Given the description of an element on the screen output the (x, y) to click on. 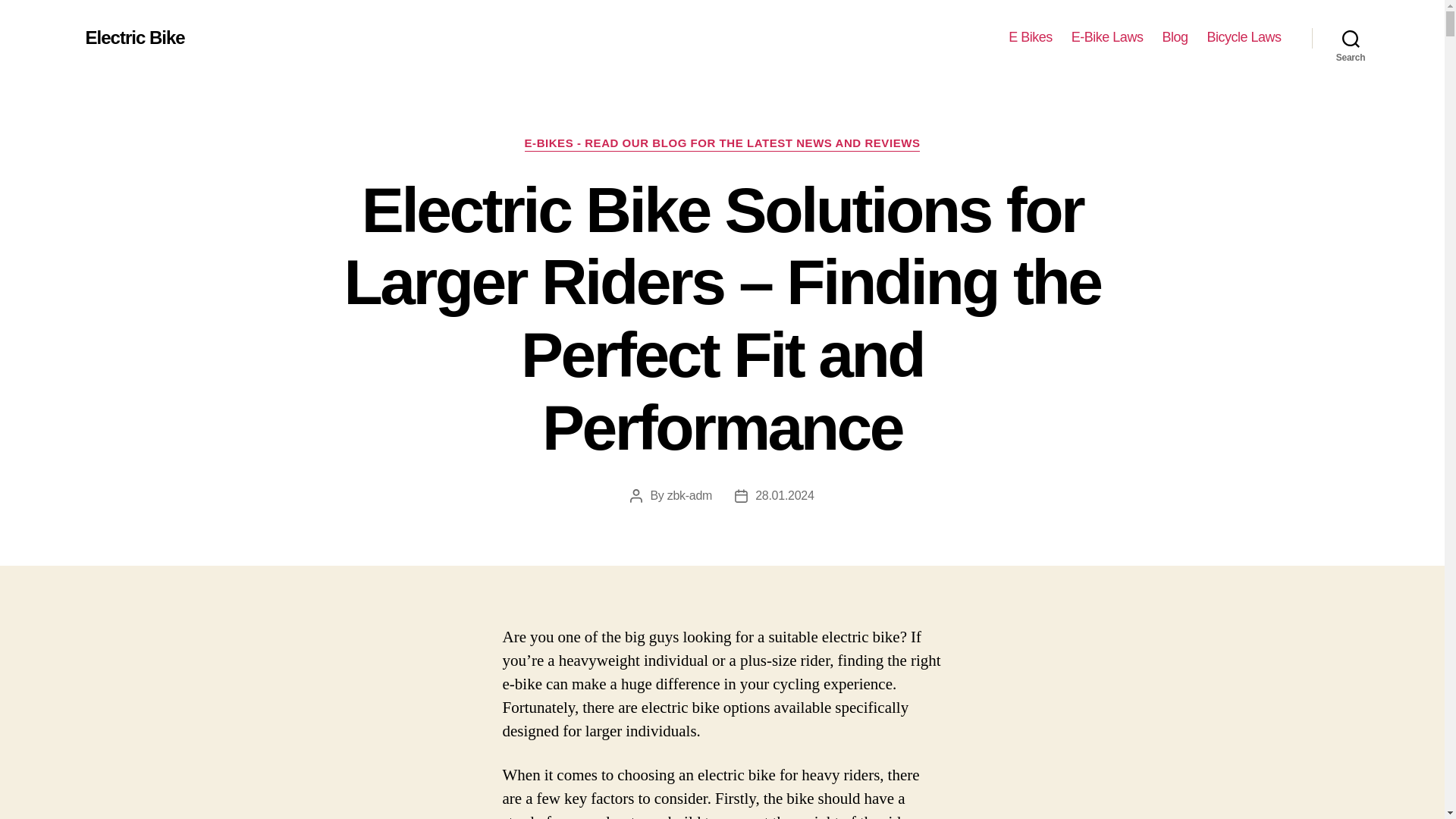
E-Bike Laws (1106, 37)
28.01.2024 (784, 495)
E Bikes (1030, 37)
E-BIKES - READ OUR BLOG FOR THE LATEST NEWS AND REVIEWS (722, 143)
Bicycle Laws (1244, 37)
Electric Bike (134, 37)
Search (1350, 37)
zbk-adm (688, 495)
Blog (1174, 37)
